Given the description of an element on the screen output the (x, y) to click on. 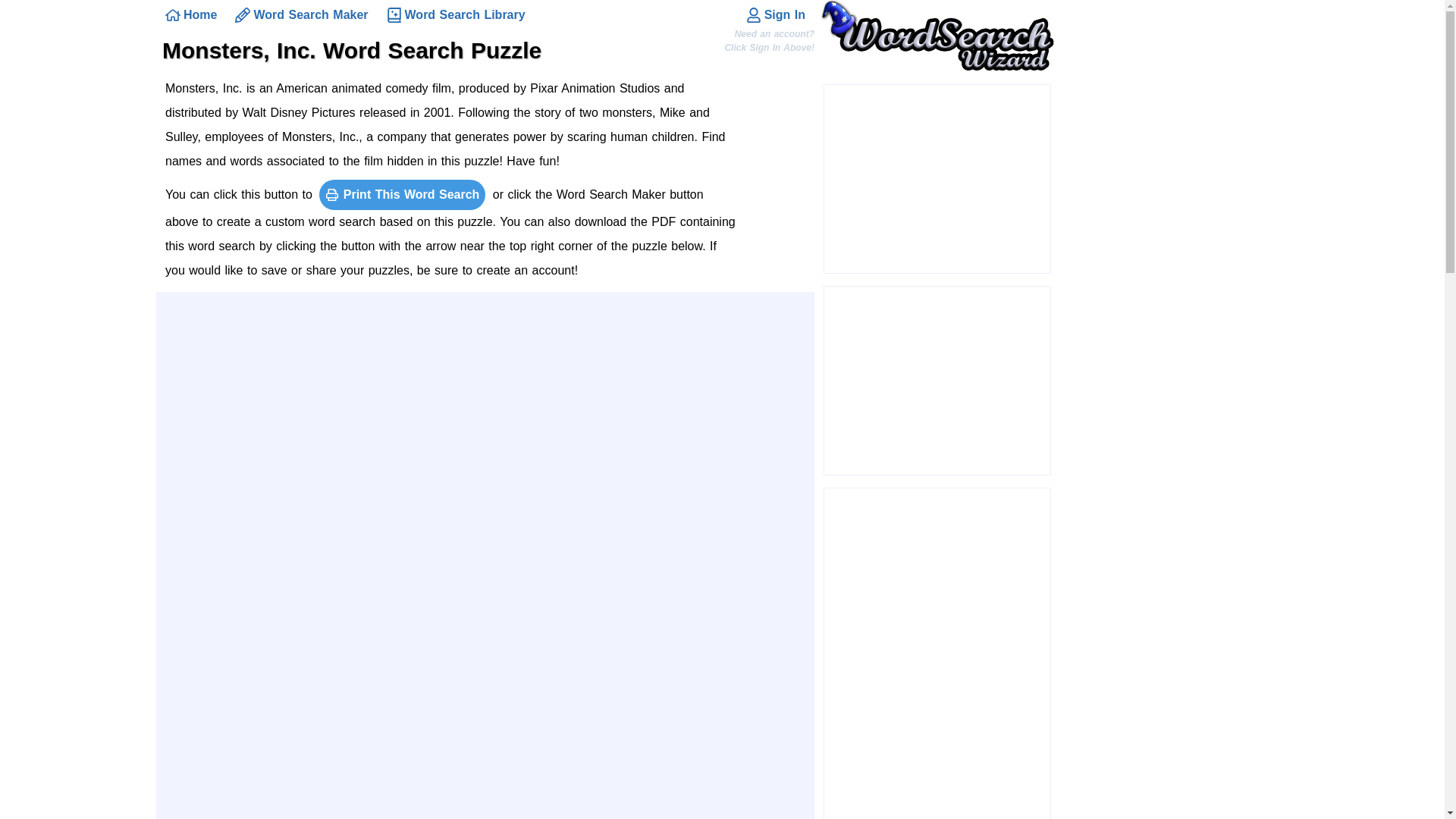
Sign In (774, 15)
Print This Word Search (401, 194)
Word Search Maker (301, 15)
Advertisement (937, 179)
Advertisement (937, 380)
Home (190, 15)
Word Search Library (455, 15)
